Given the description of an element on the screen output the (x, y) to click on. 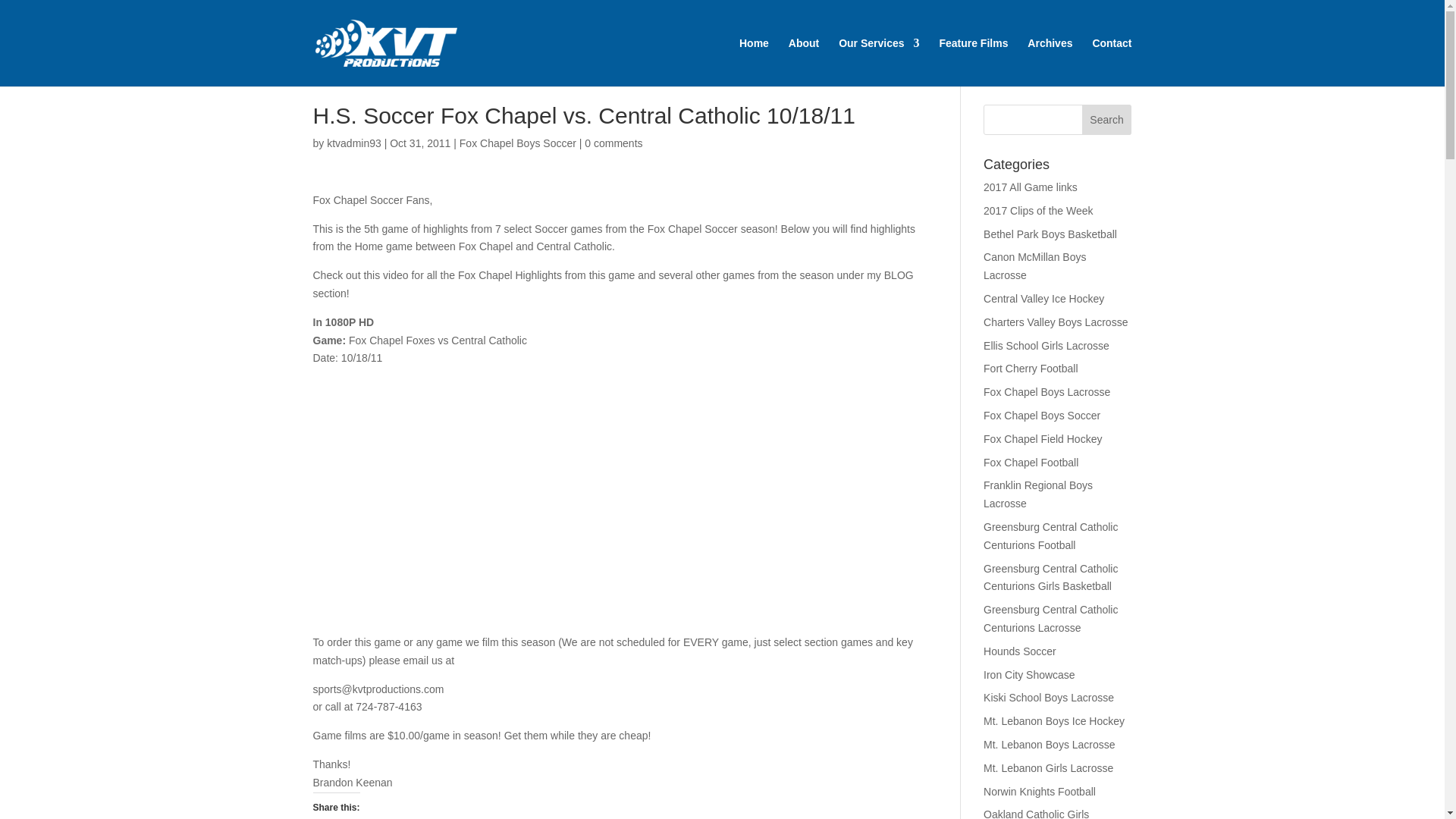
Archives (1049, 61)
Hounds Soccer (1020, 651)
ktvadmin93 (353, 143)
2017 All Game links (1030, 186)
Search (1106, 119)
Fox Chapel Boys Lacrosse (1046, 391)
Our Services (878, 61)
Franklin Regional Boys Lacrosse (1038, 494)
Search (1106, 119)
Fort Cherry Football (1030, 368)
